Given the description of an element on the screen output the (x, y) to click on. 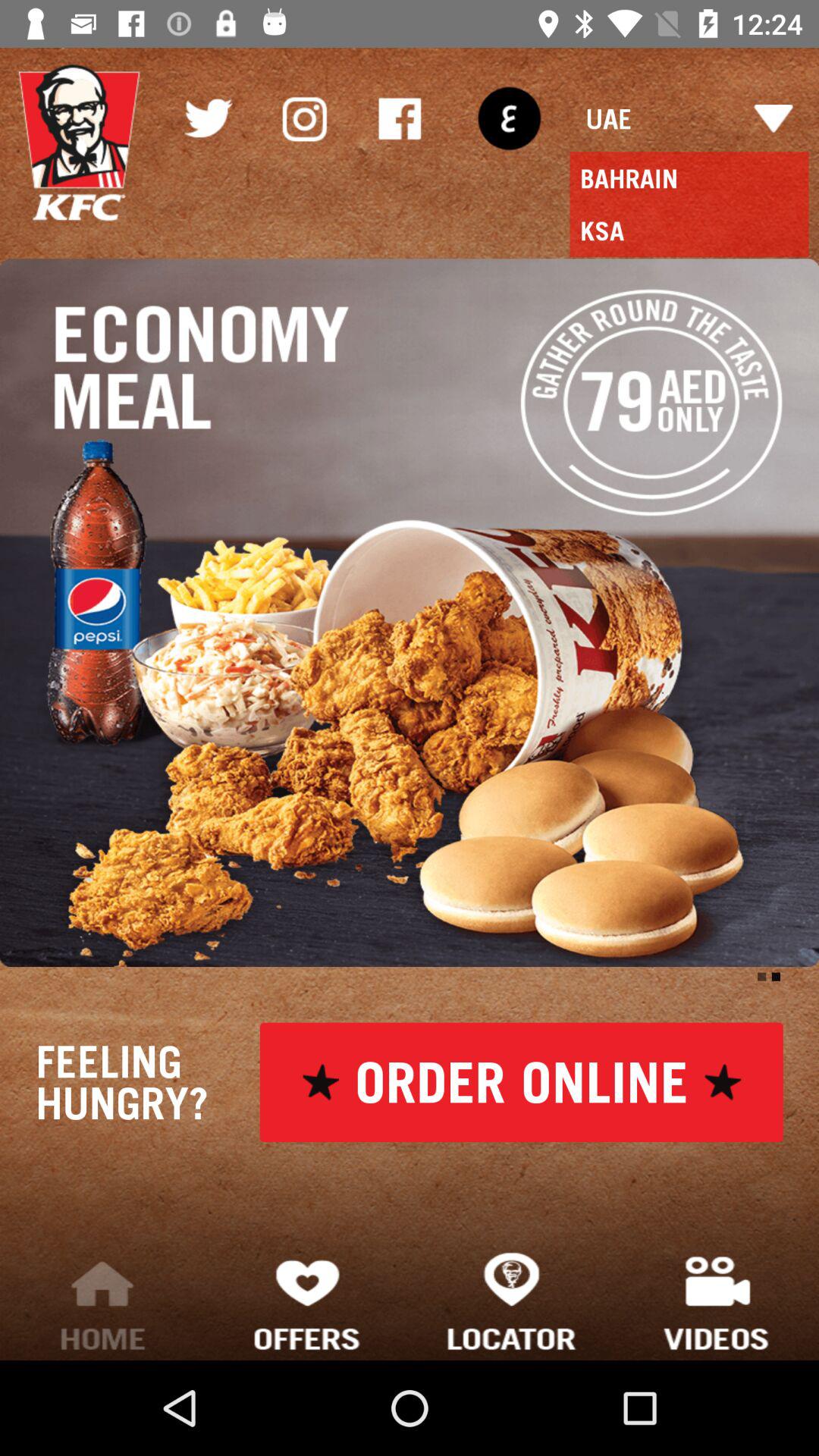
swipe until the bahrain (688, 178)
